Given the description of an element on the screen output the (x, y) to click on. 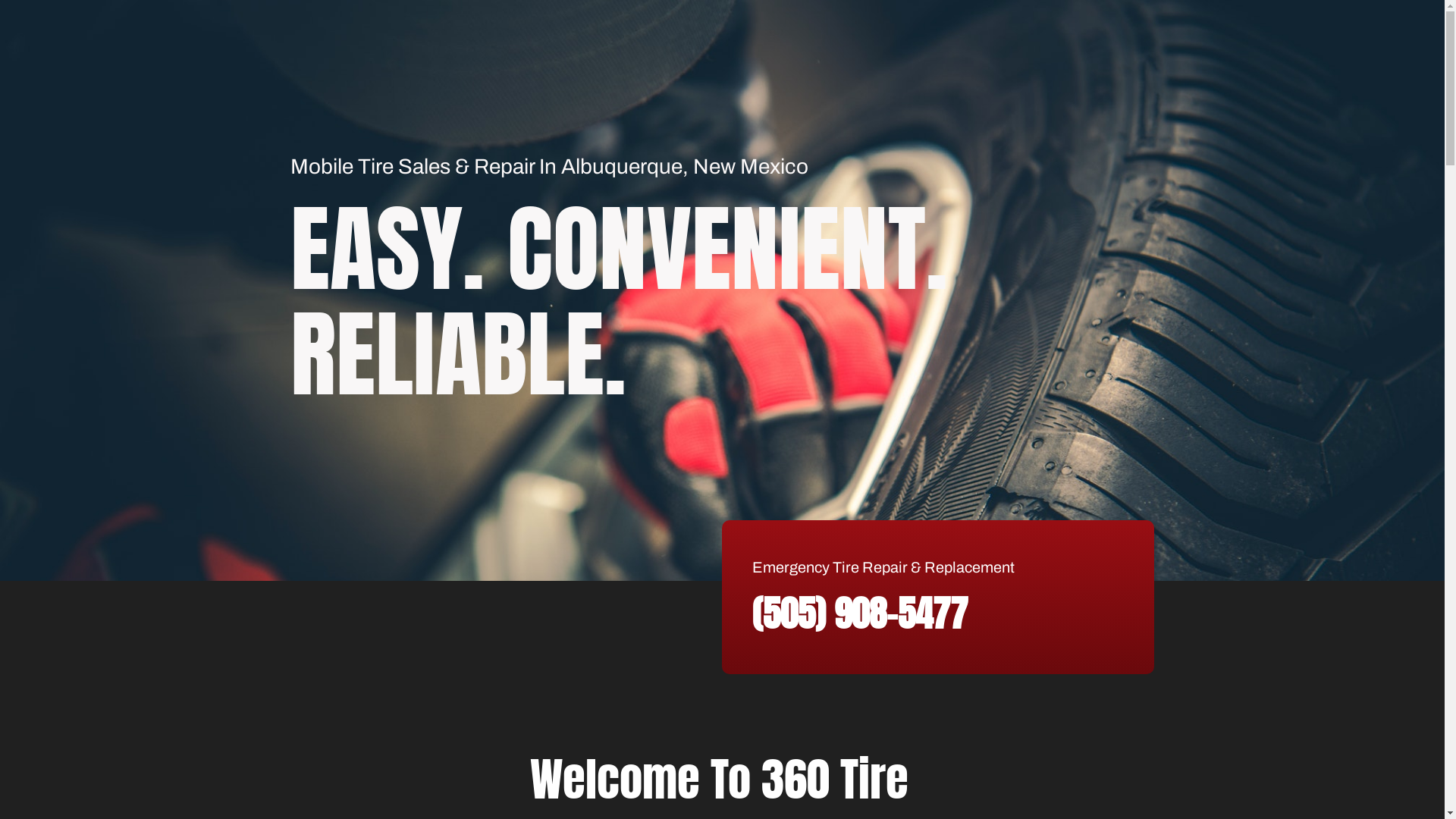
(505) 908-5477 Element type: text (859, 613)
